Given the description of an element on the screen output the (x, y) to click on. 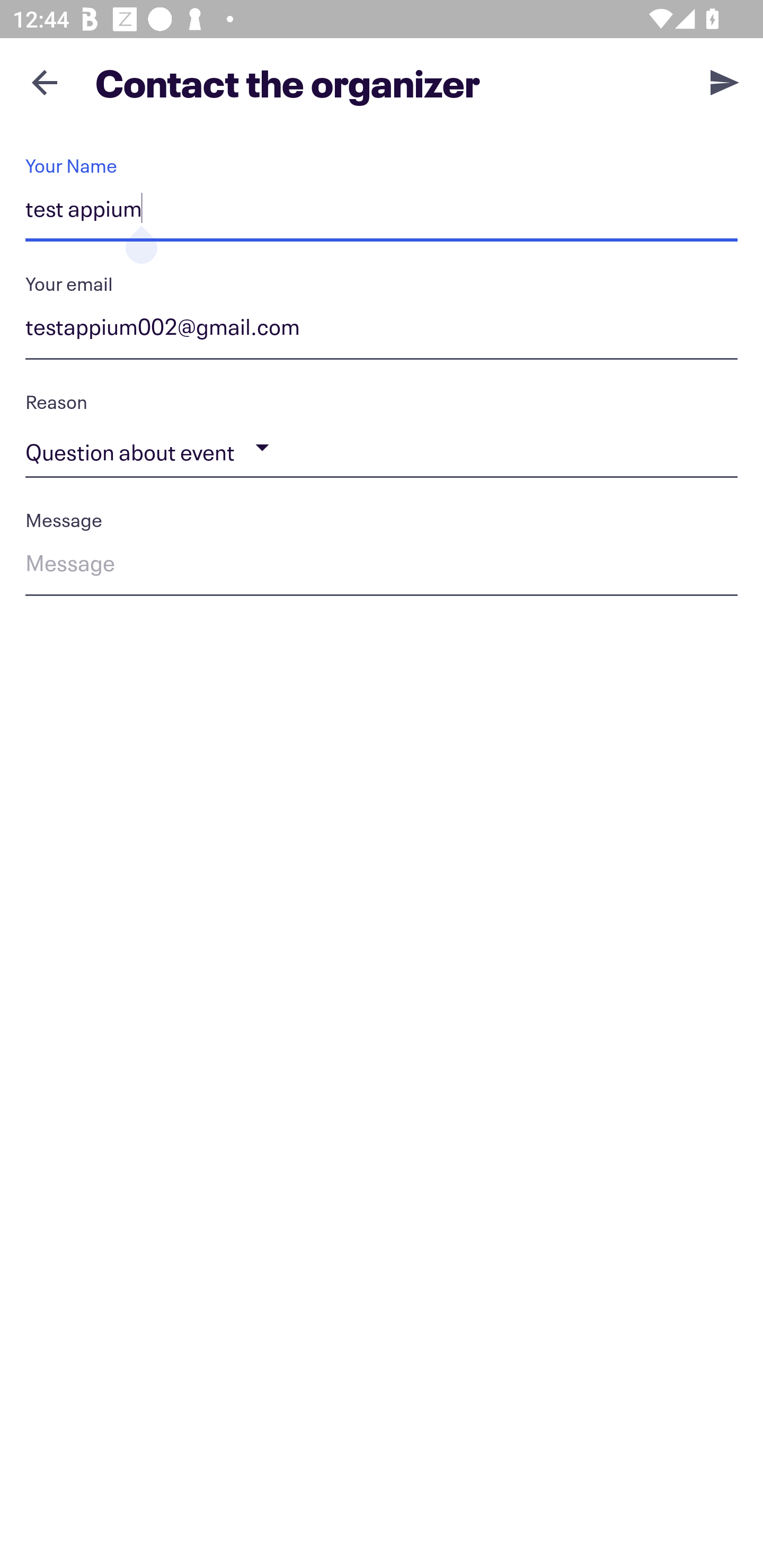
Navigate up (44, 82)
Send (724, 81)
test appium (381, 211)
testappium002@gmail.com (381, 329)
Question about event    (381, 447)
Message (381, 565)
